Given the description of an element on the screen output the (x, y) to click on. 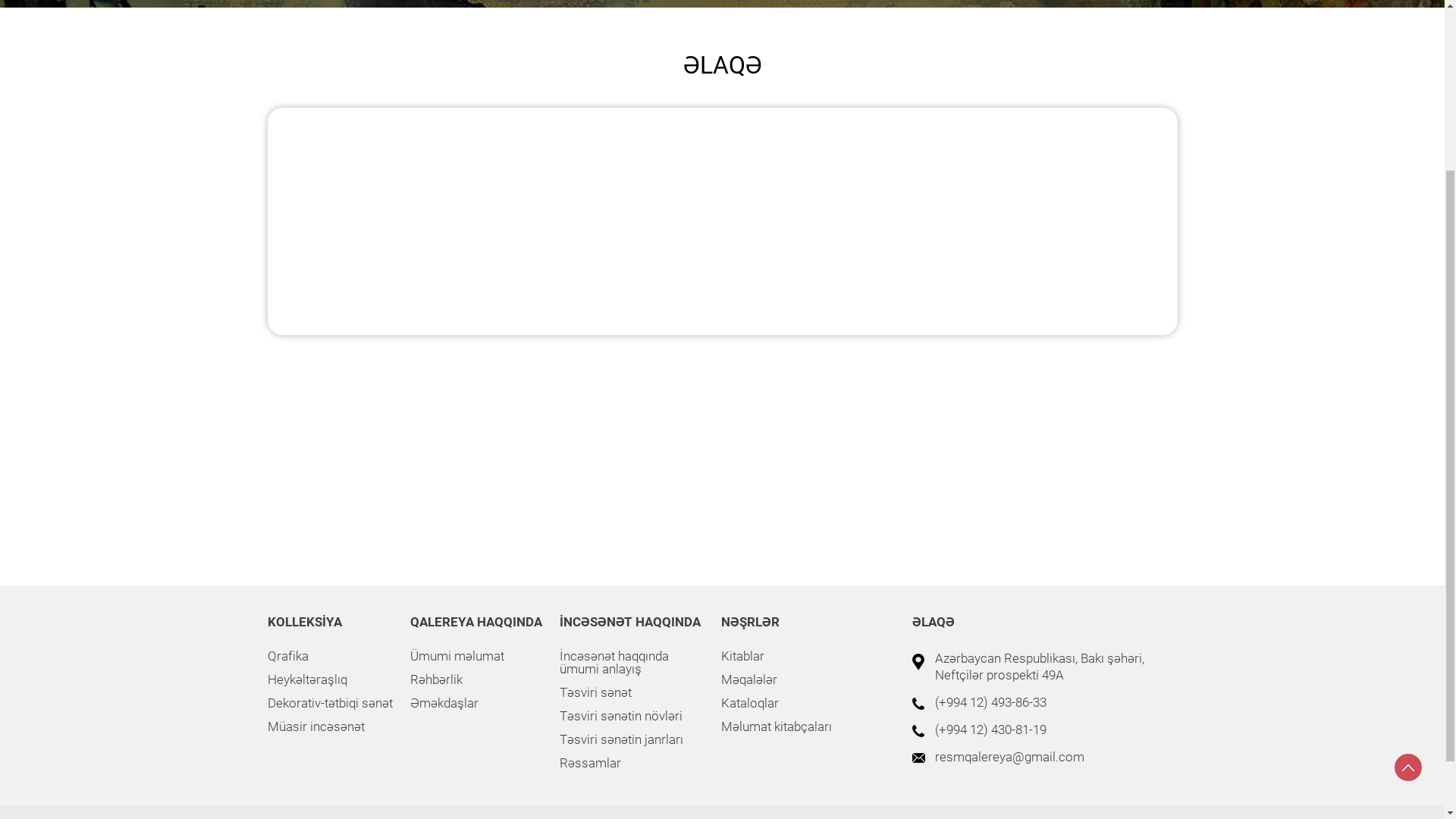
EN Element type: text (1152, 31)
AZ Element type: text (1135, 31)
RU Element type: text (1170, 31)
ELANLAR Element type: text (354, 31)
QALEREYA HAQQINDA Element type: text (445, 198)
